Given the description of an element on the screen output the (x, y) to click on. 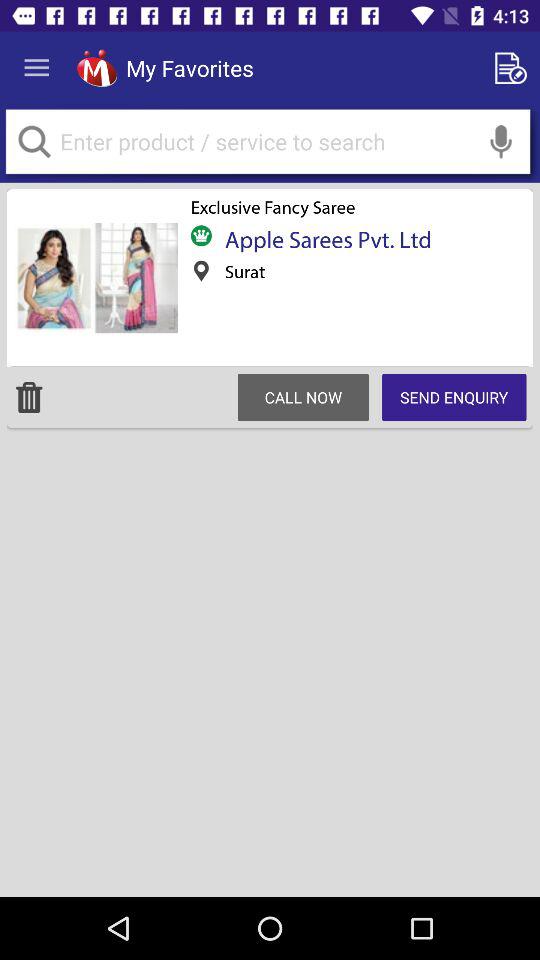
choose the send enquiry on the right (454, 397)
